Given the description of an element on the screen output the (x, y) to click on. 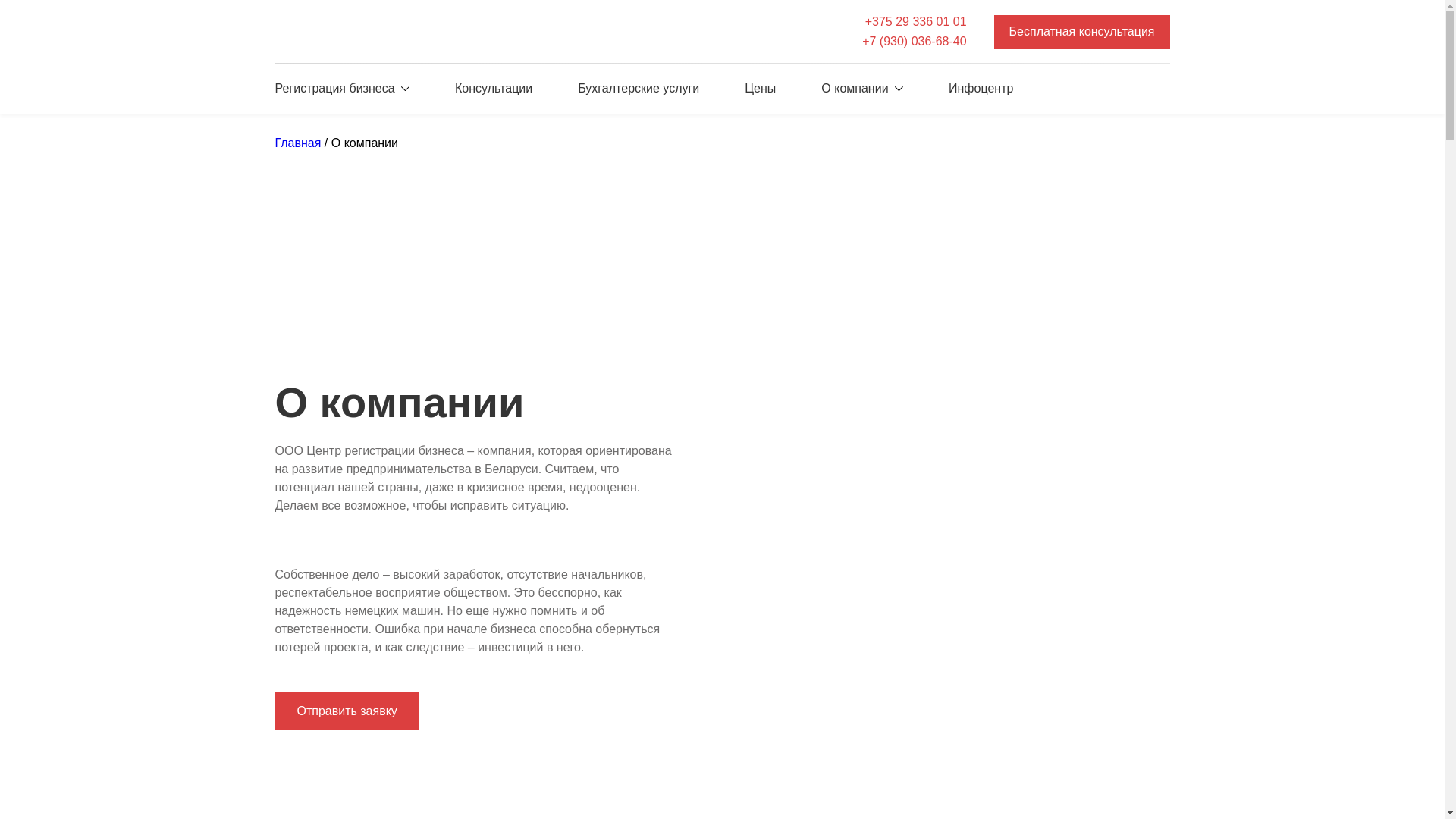
+375 29 336 01 01 Element type: text (914, 21)
+7 (930) 036-68-40 Element type: text (914, 41)
